Given the description of an element on the screen output the (x, y) to click on. 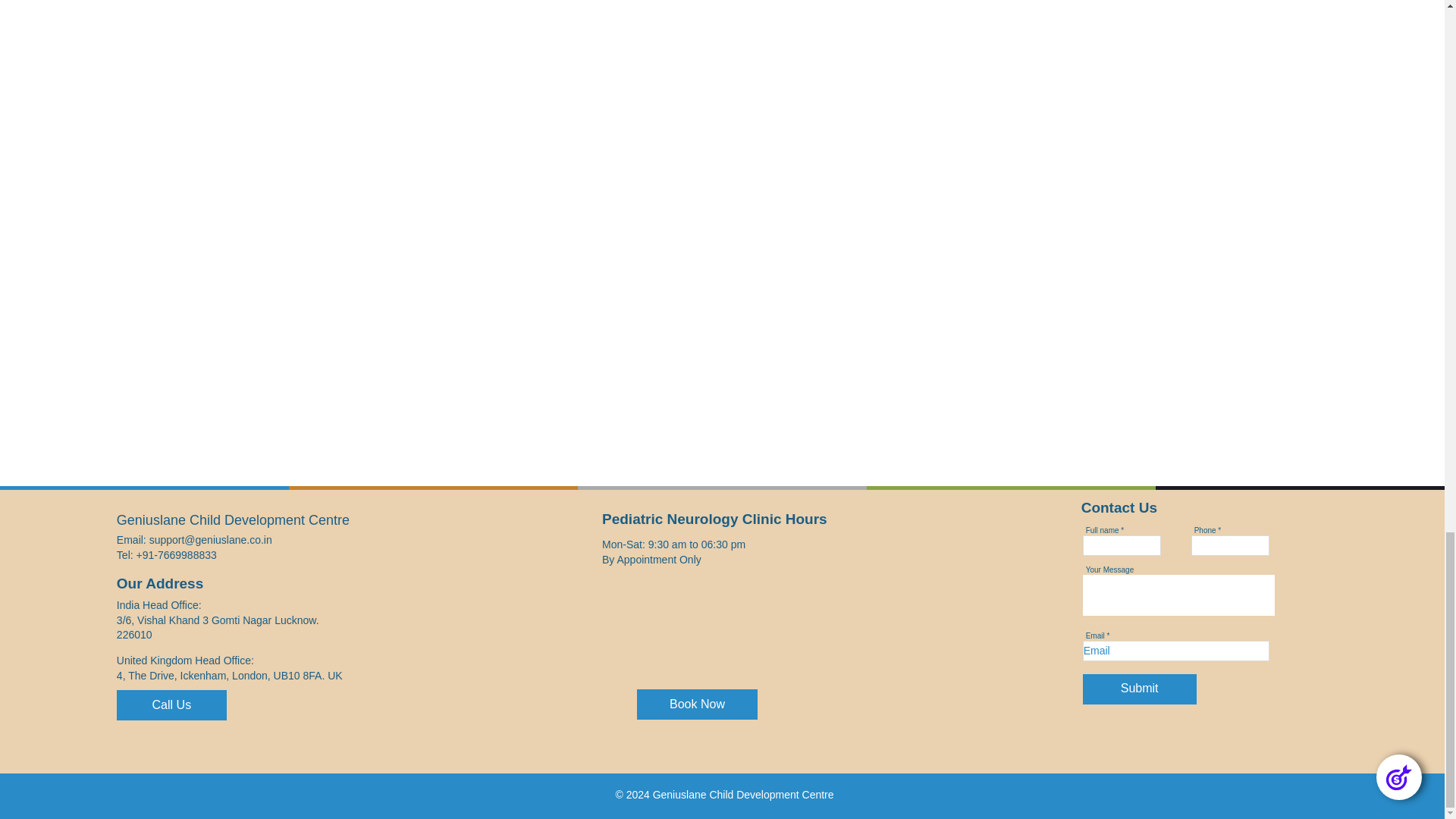
Call Us (171, 705)
